Given the description of an element on the screen output the (x, y) to click on. 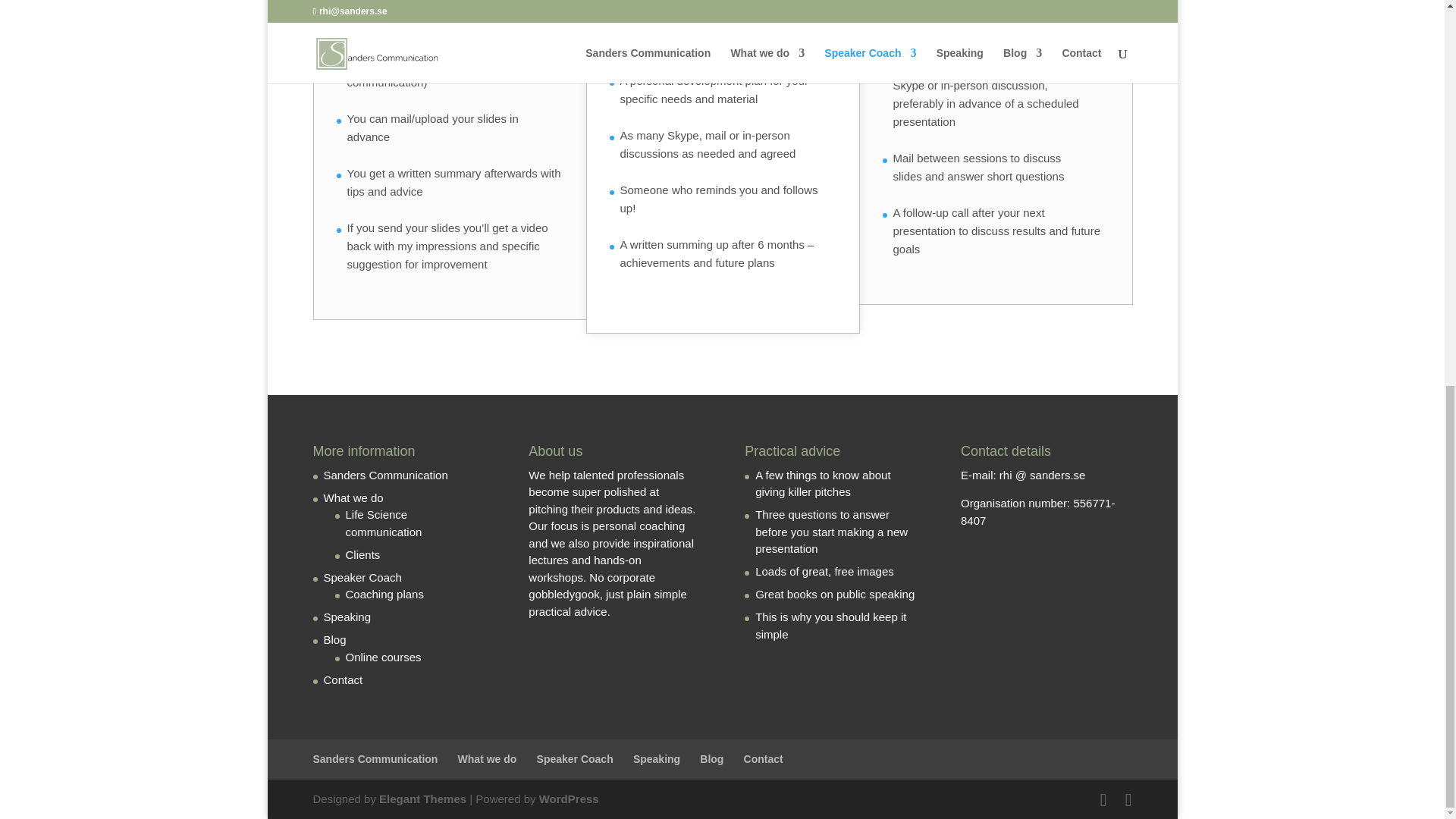
Coaching plans (384, 594)
Loads of great, free images (824, 571)
Life Science communication (384, 522)
Speaking (347, 616)
Premium WordPress Themes (421, 798)
Blog (334, 639)
Speaker Coach (362, 576)
Online courses (384, 656)
Sanders Communication (384, 474)
